Given the description of an element on the screen output the (x, y) to click on. 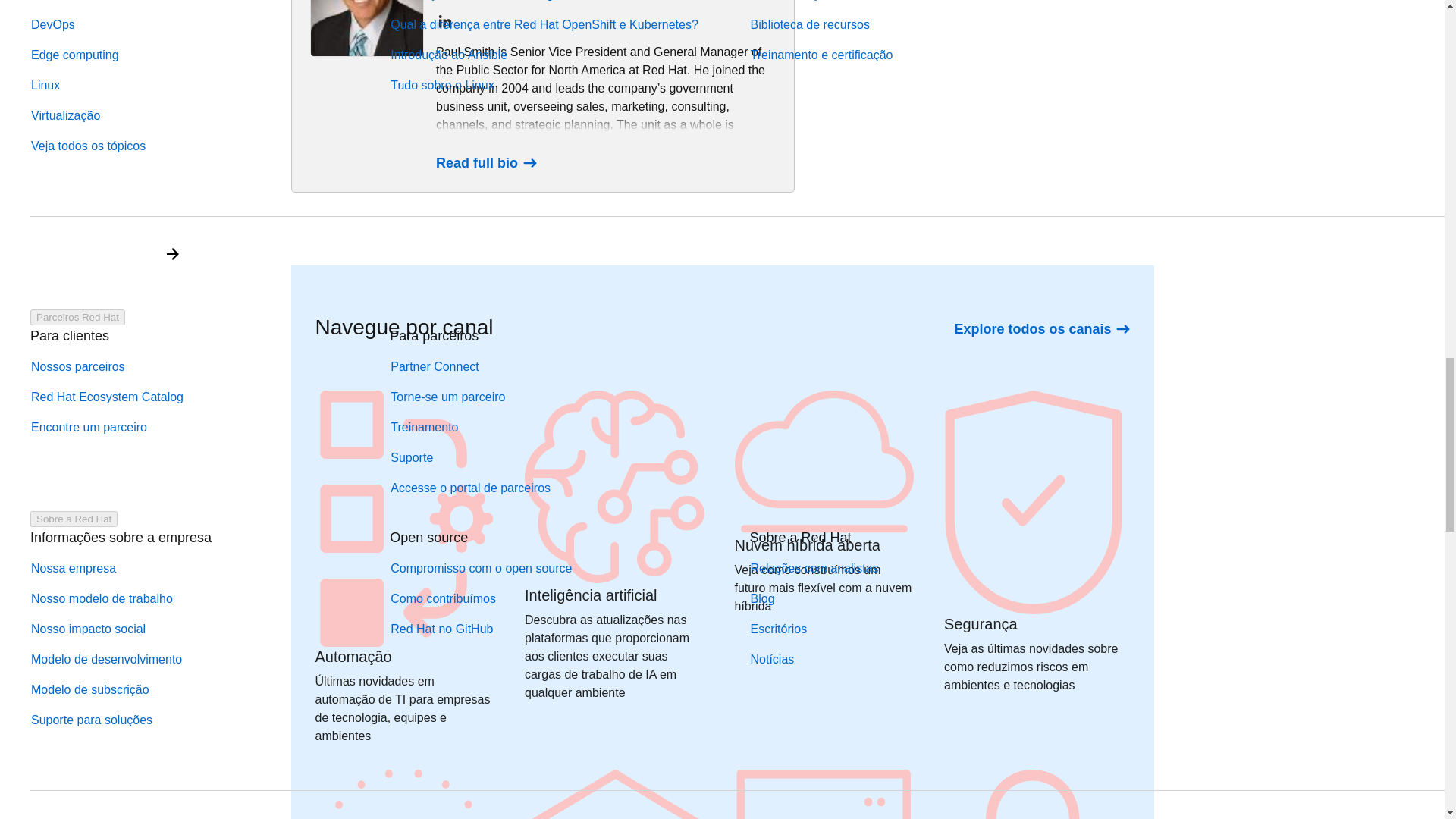
Follow Paul Smith LinkedIn (443, 22)
